Given the description of an element on the screen output the (x, y) to click on. 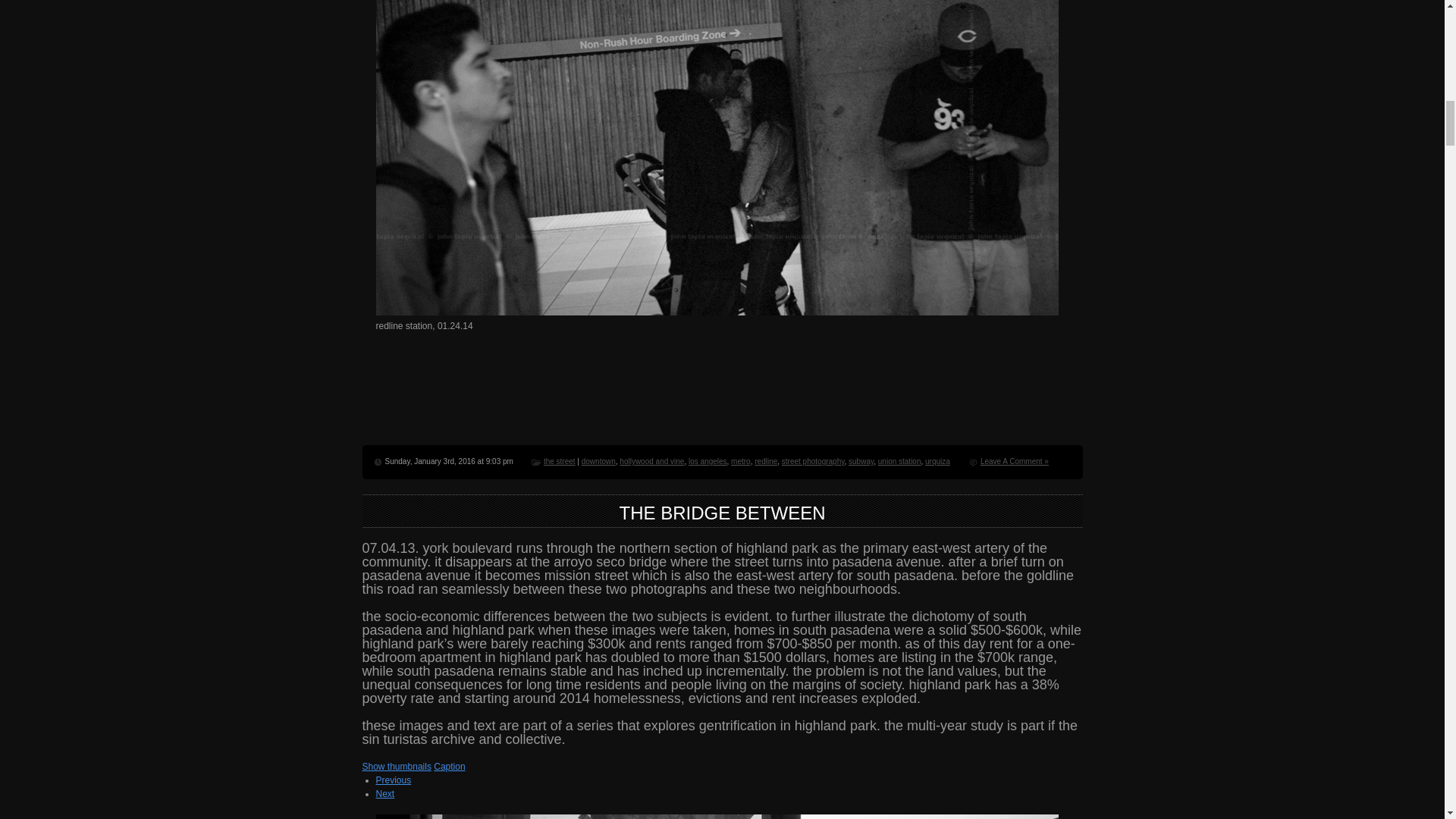
Show thumbnails (396, 766)
Previous (393, 779)
Next (384, 793)
Permanent Link to the bridge between (721, 512)
Caption (448, 766)
